Given the description of an element on the screen output the (x, y) to click on. 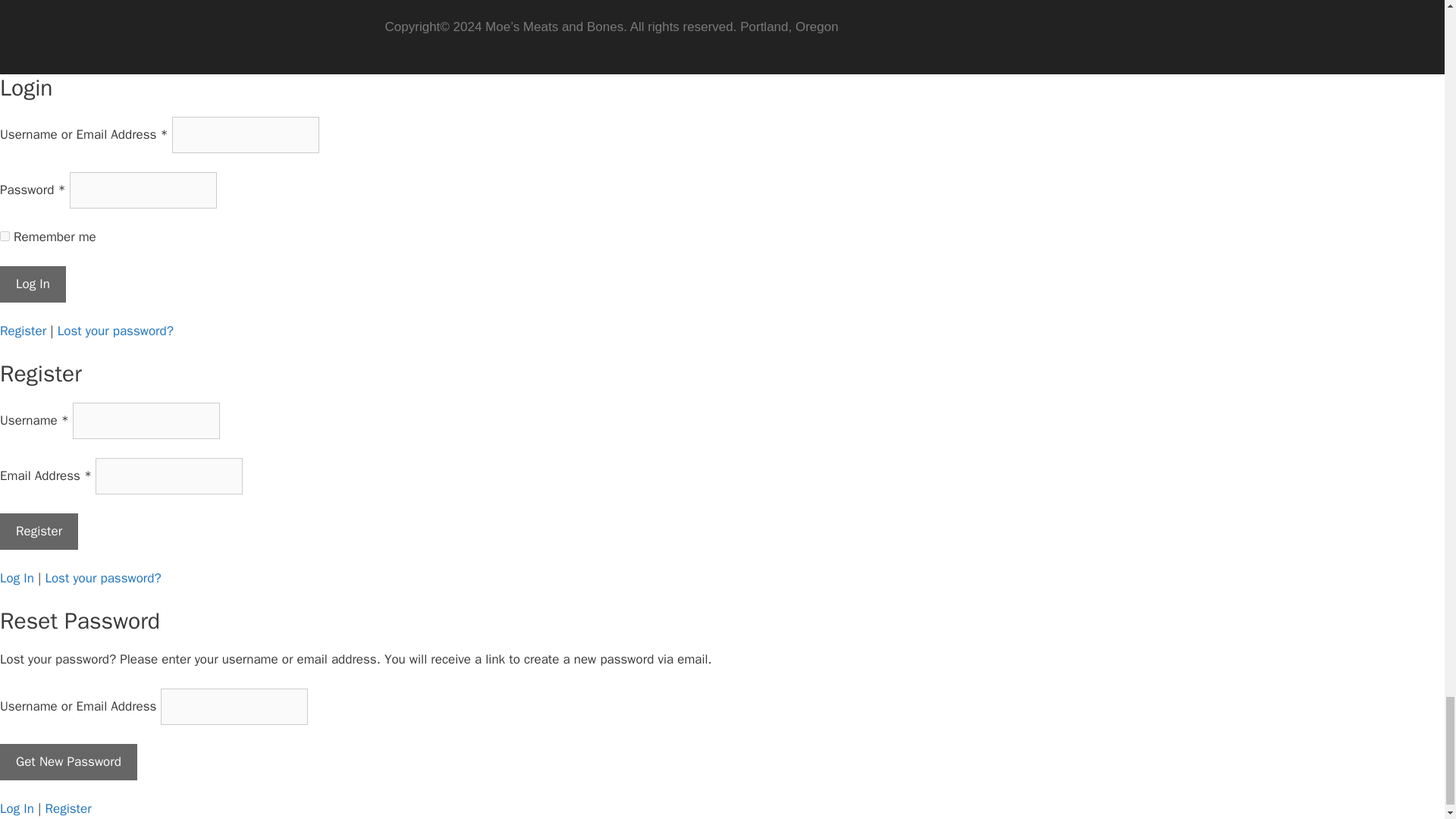
Register (39, 531)
Log In (32, 284)
Get New Password (68, 761)
forever (5, 235)
